Given the description of an element on the screen output the (x, y) to click on. 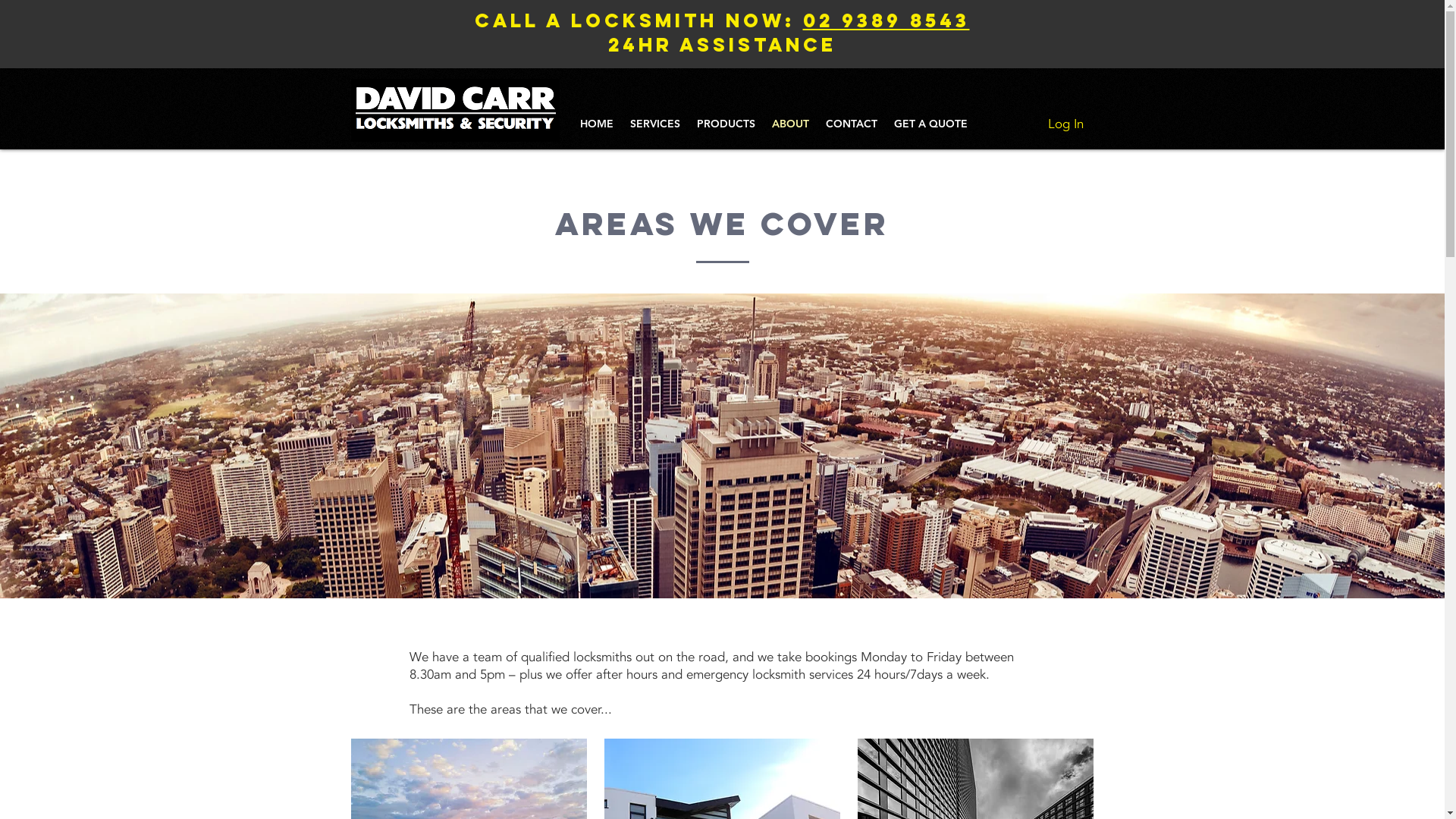
Log In Element type: text (1065, 124)
GET A QUOTE Element type: text (930, 123)
ABOUT Element type: text (789, 123)
HOME Element type: text (596, 123)
02 9389 8543 Element type: text (885, 20)
CONTACT Element type: text (851, 123)
24hr assistance Element type: text (722, 44)
